Given the description of an element on the screen output the (x, y) to click on. 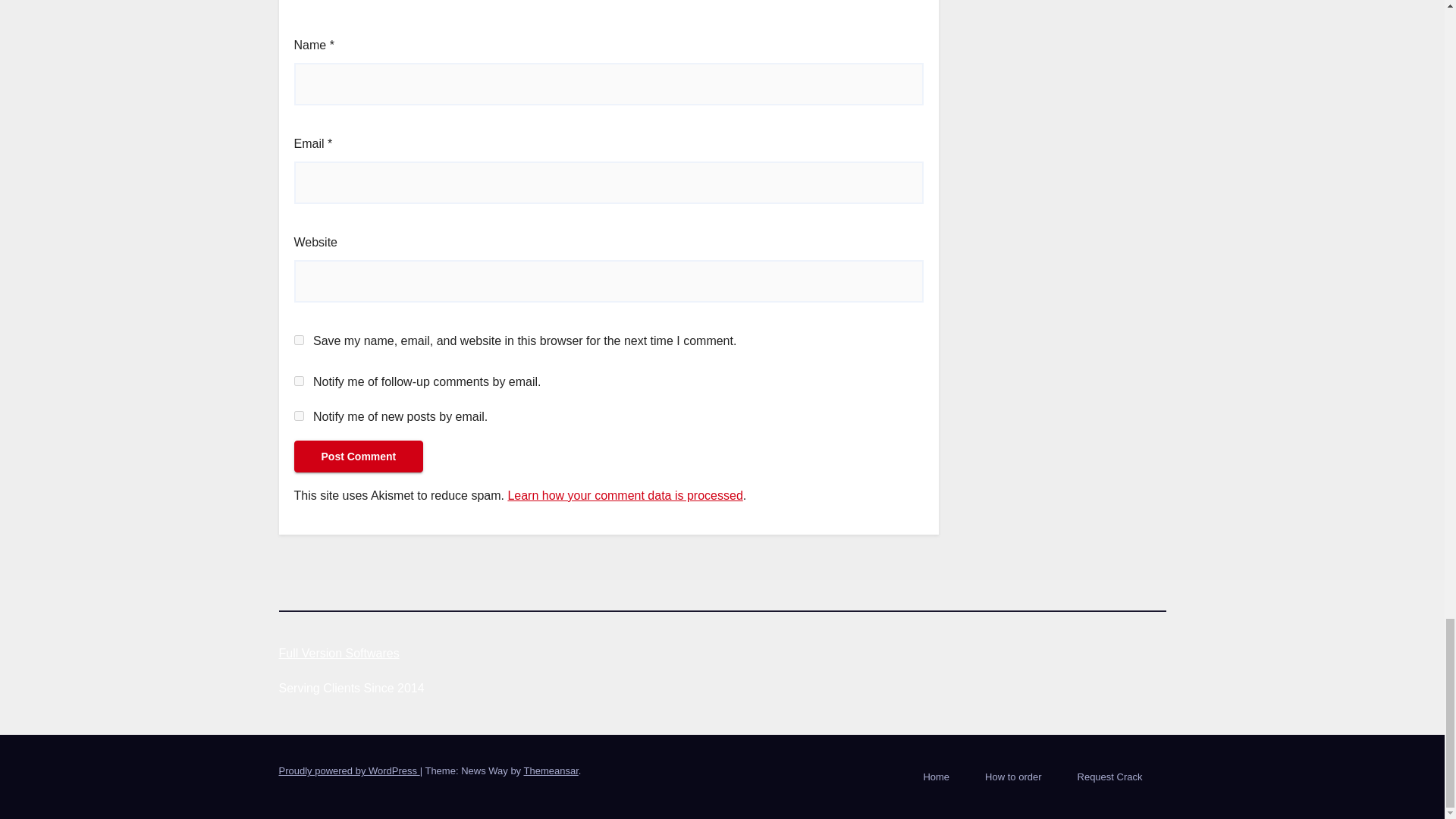
subscribe (299, 380)
yes (299, 339)
subscribe (299, 415)
Home (935, 776)
Post Comment (358, 456)
